Given the description of an element on the screen output the (x, y) to click on. 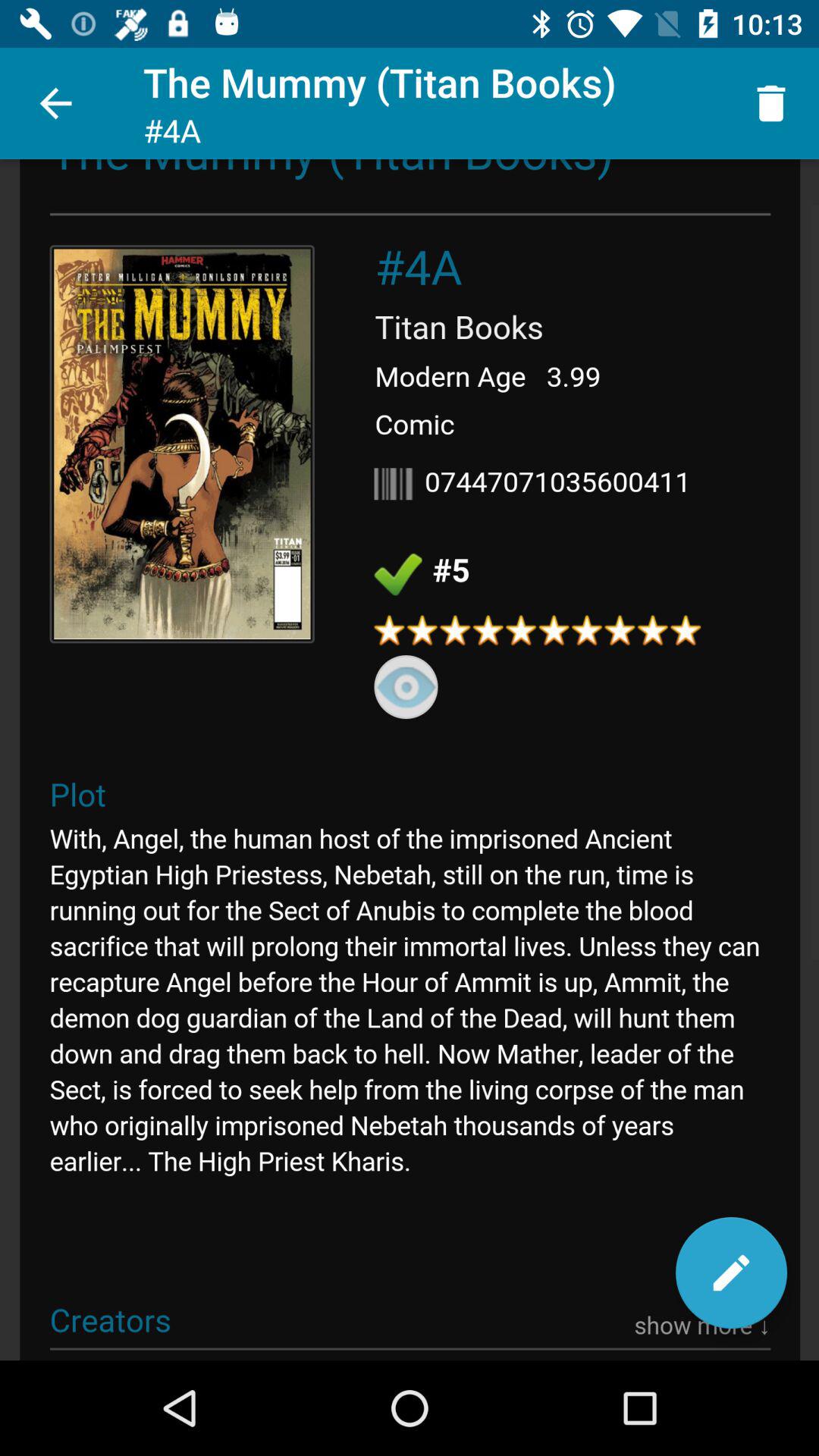
turn off icon at the top right corner (771, 103)
